Given the description of an element on the screen output the (x, y) to click on. 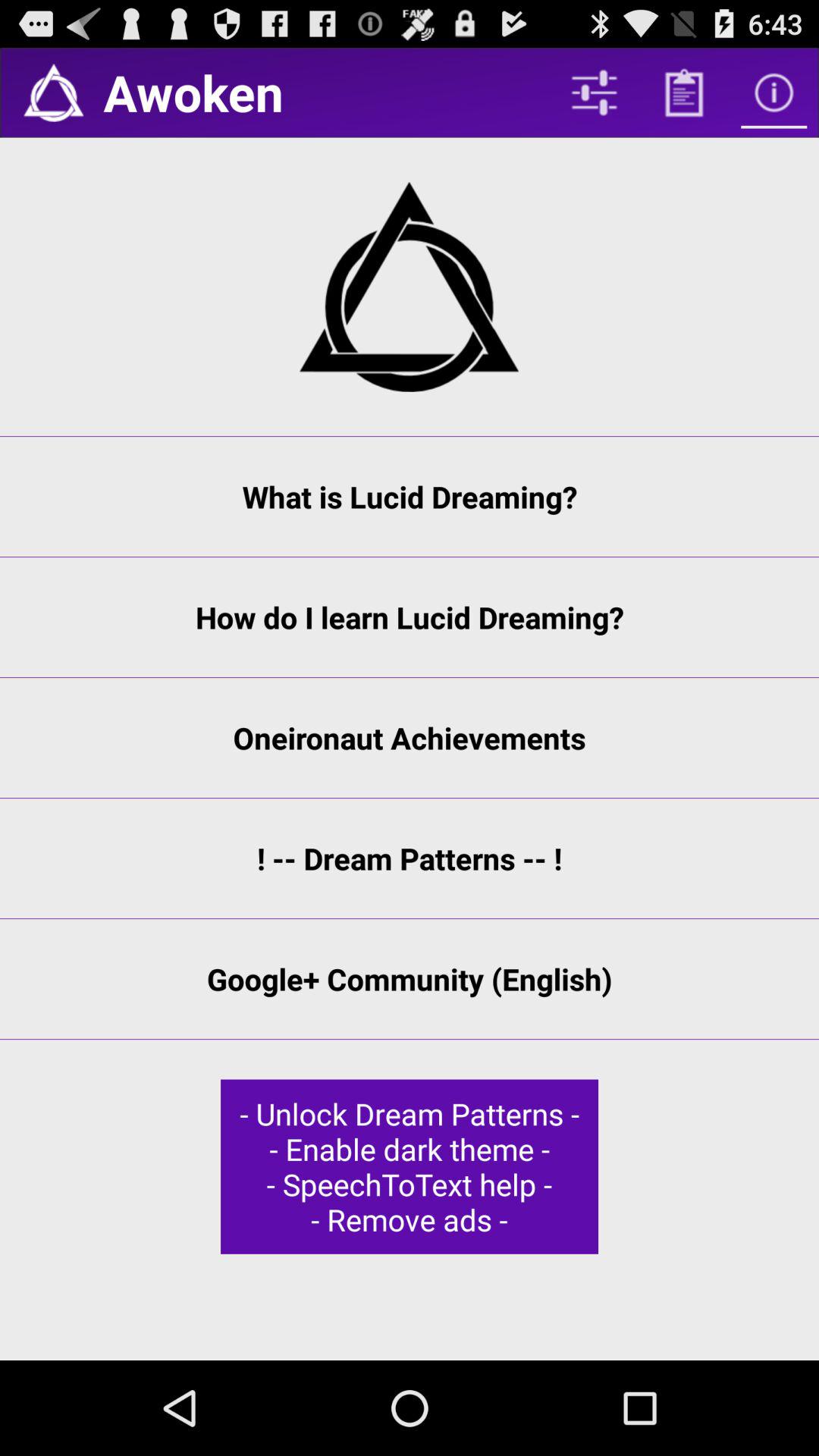
scroll until the how do i (409, 617)
